Given the description of an element on the screen output the (x, y) to click on. 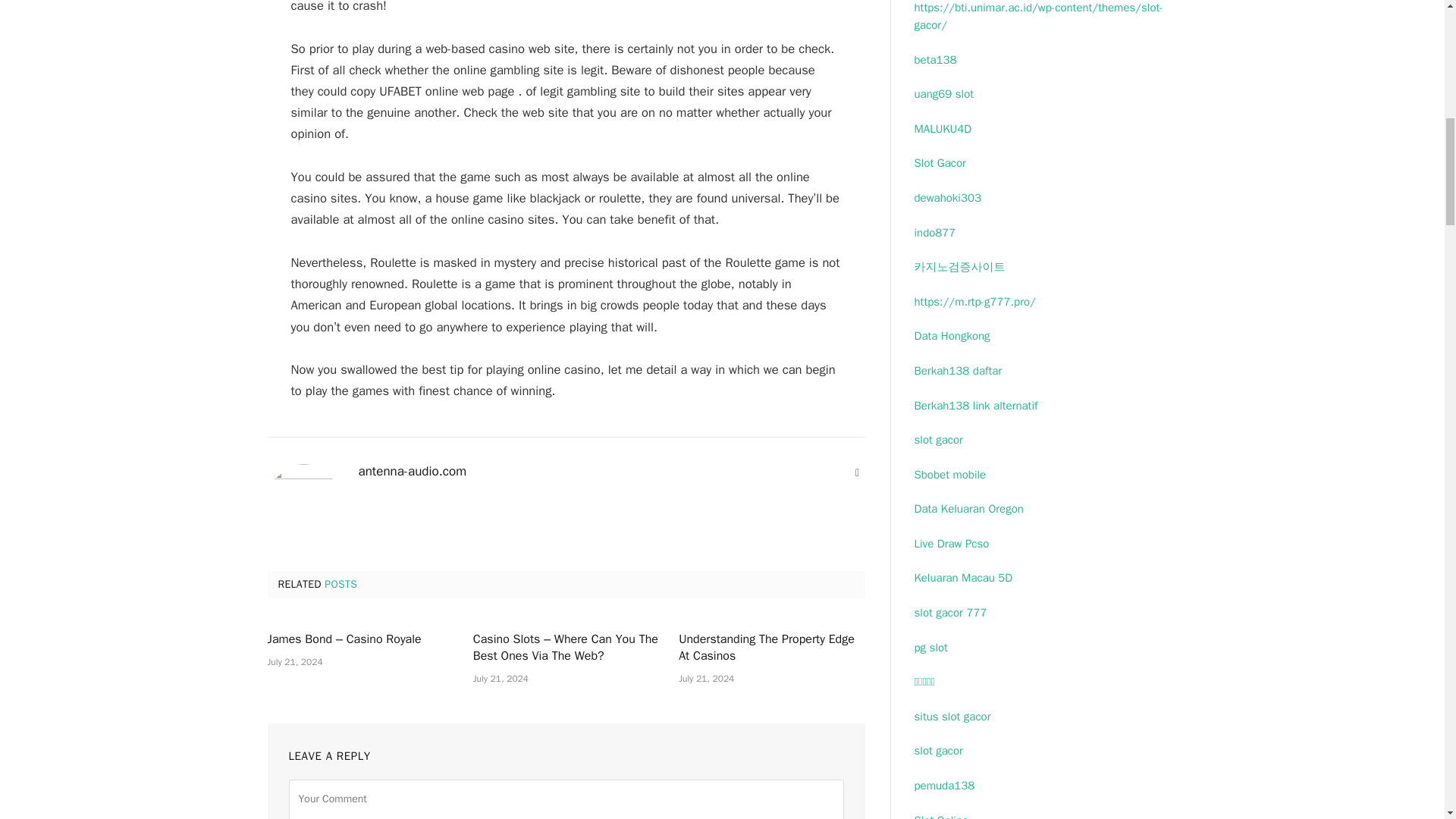
Posts by antenna-audio.com (411, 471)
Understanding The Property Edge At Casinos (771, 648)
antenna-audio.com (411, 471)
Website (856, 473)
Website (856, 473)
